Given the description of an element on the screen output the (x, y) to click on. 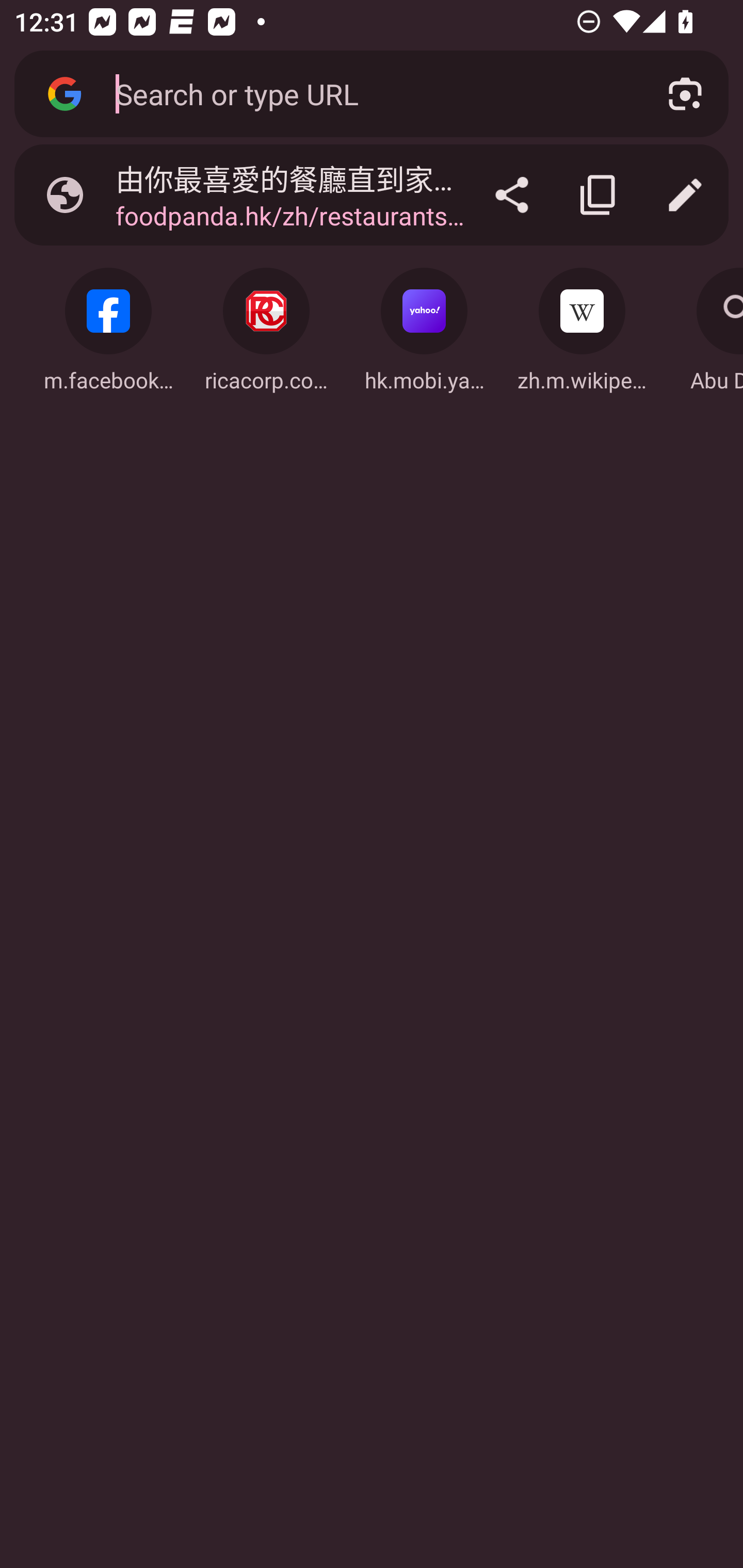
Search with your camera using Google Lens (684, 93)
Search or type URL (367, 92)
Share… (511, 195)
Copy link (598, 195)
Edit (684, 195)
